Given the description of an element on the screen output the (x, y) to click on. 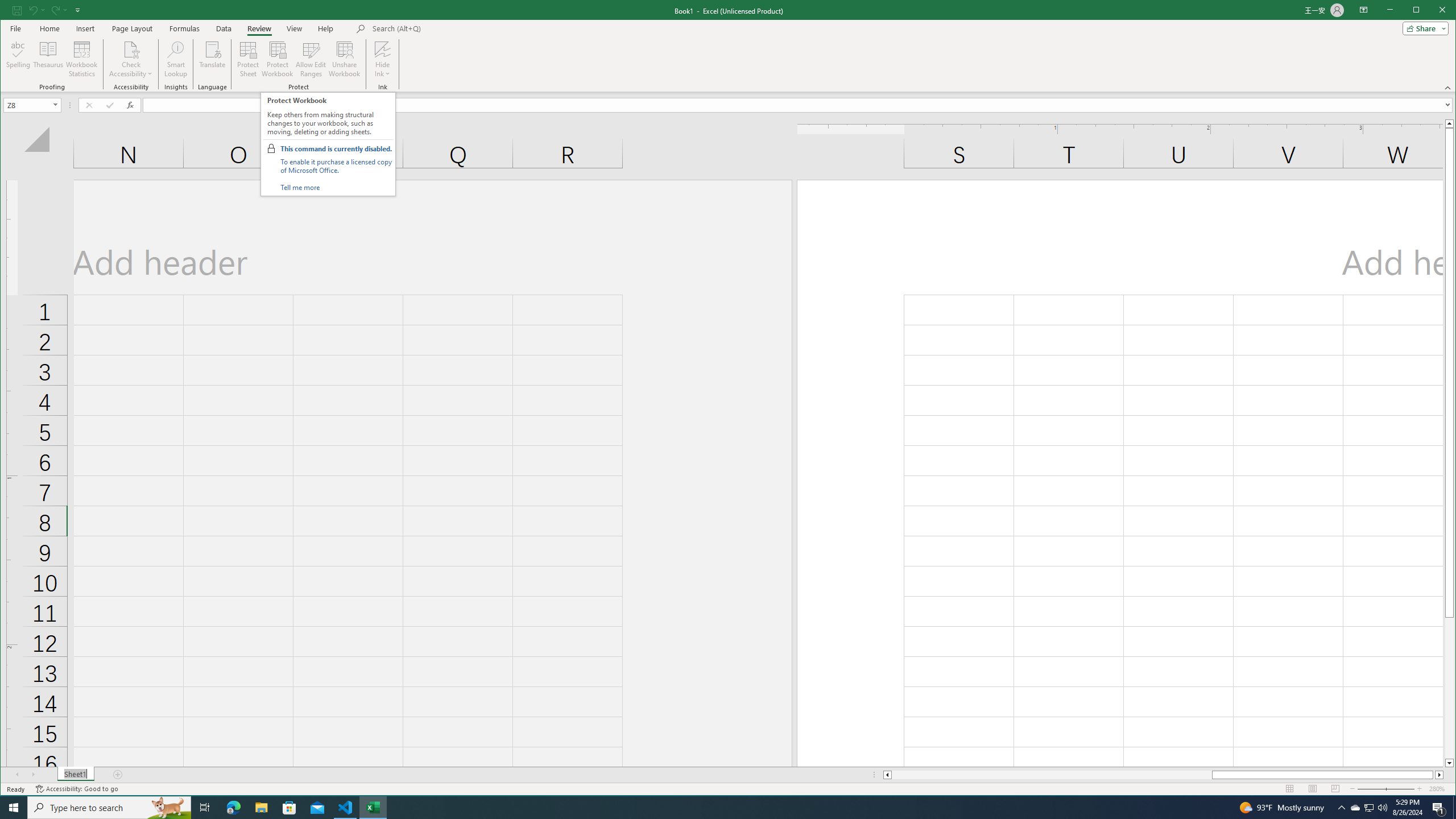
Protect Workbook... (277, 59)
Zoom (1384, 788)
Formulas (184, 28)
File Explorer (261, 807)
Zoom Out (1378, 788)
Home (49, 28)
Show desktop (1454, 807)
Visual Studio Code - 1 running window (345, 807)
Thesaurus... (1368, 807)
